Given the description of an element on the screen output the (x, y) to click on. 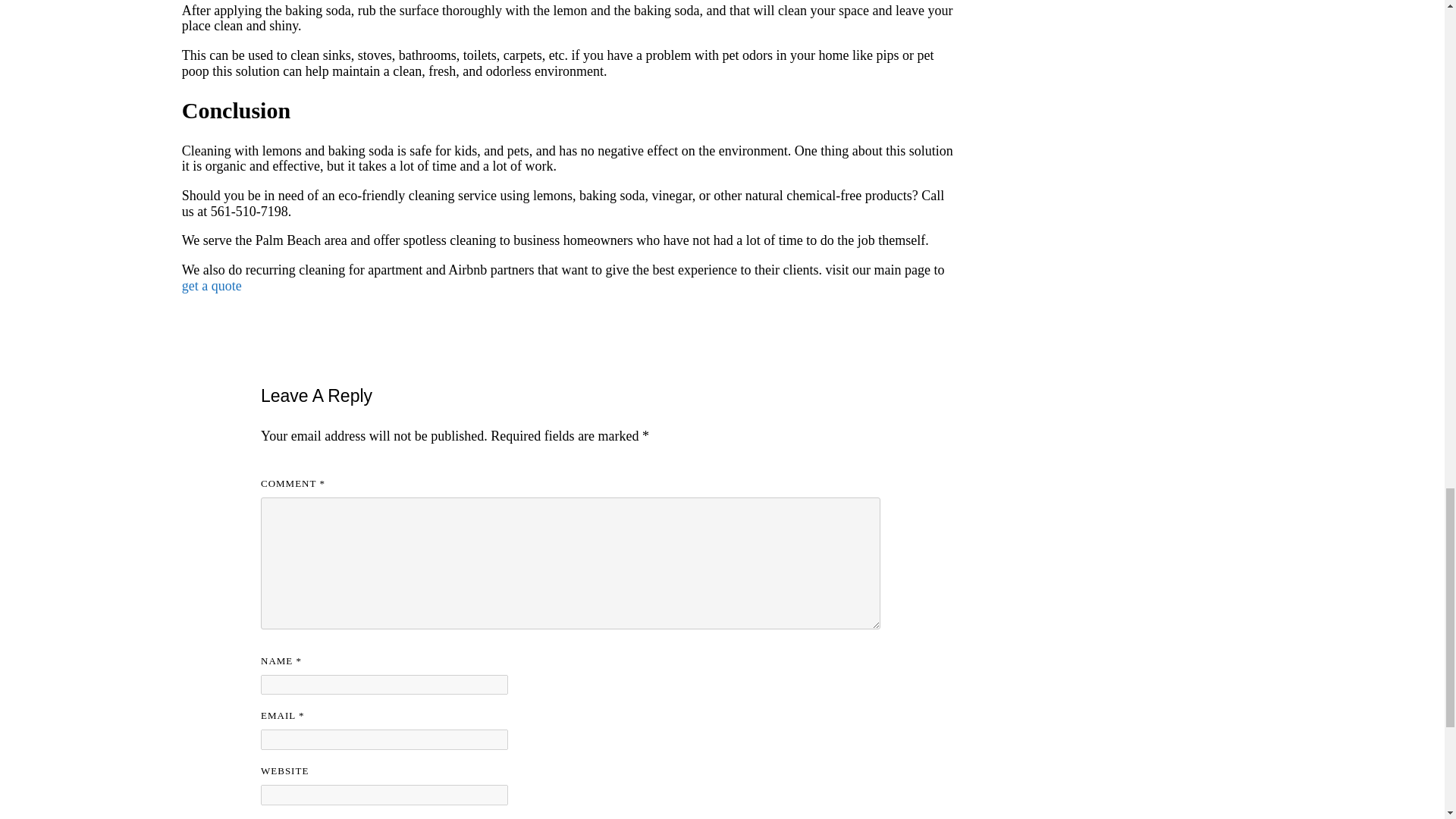
get a quote (211, 285)
